Given the description of an element on the screen output the (x, y) to click on. 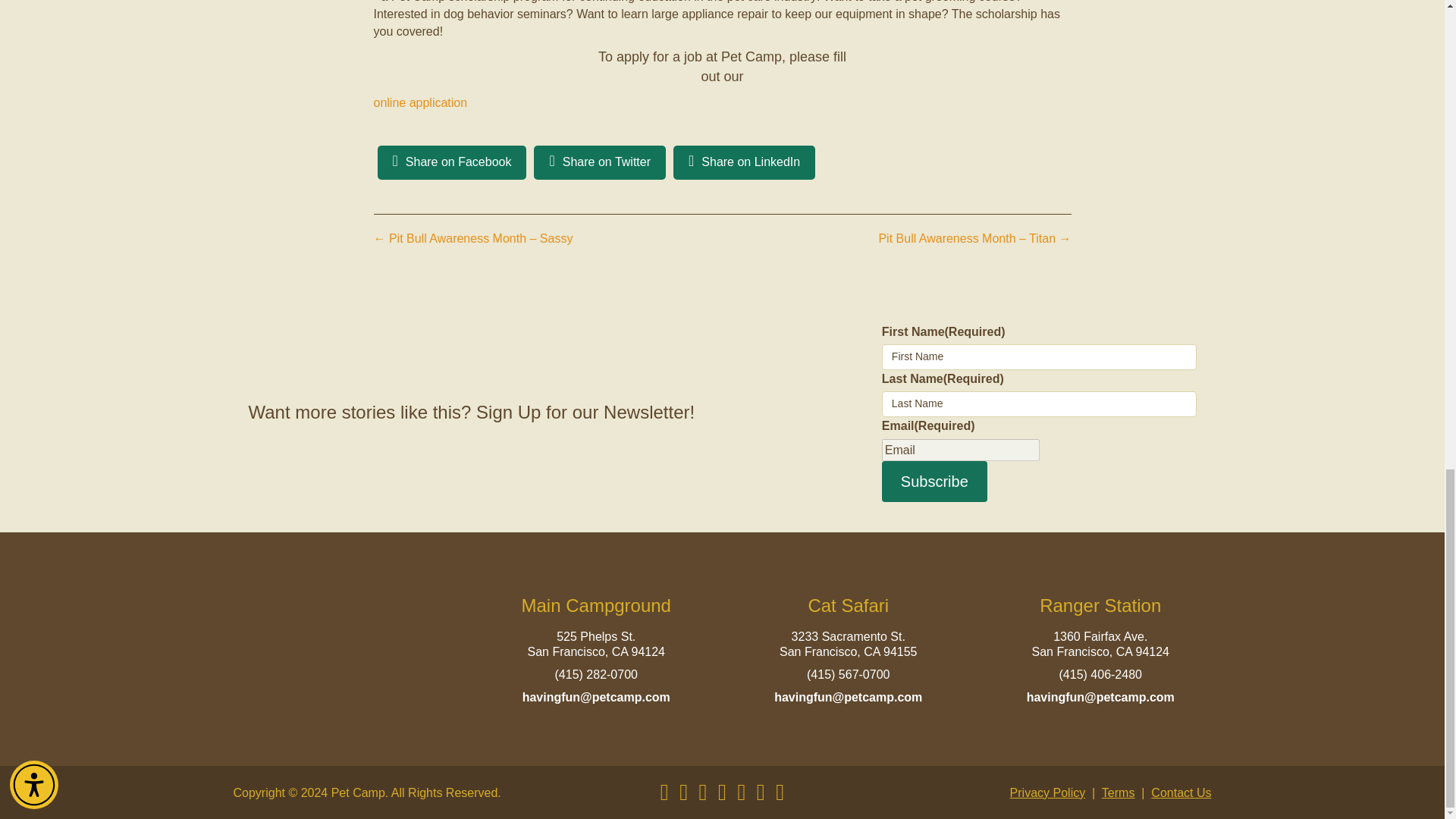
Cat Safari (848, 605)
Main Campground (596, 605)
Subscribe (934, 481)
footer-logo (343, 653)
Ranger Station (1099, 605)
